Given the description of an element on the screen output the (x, y) to click on. 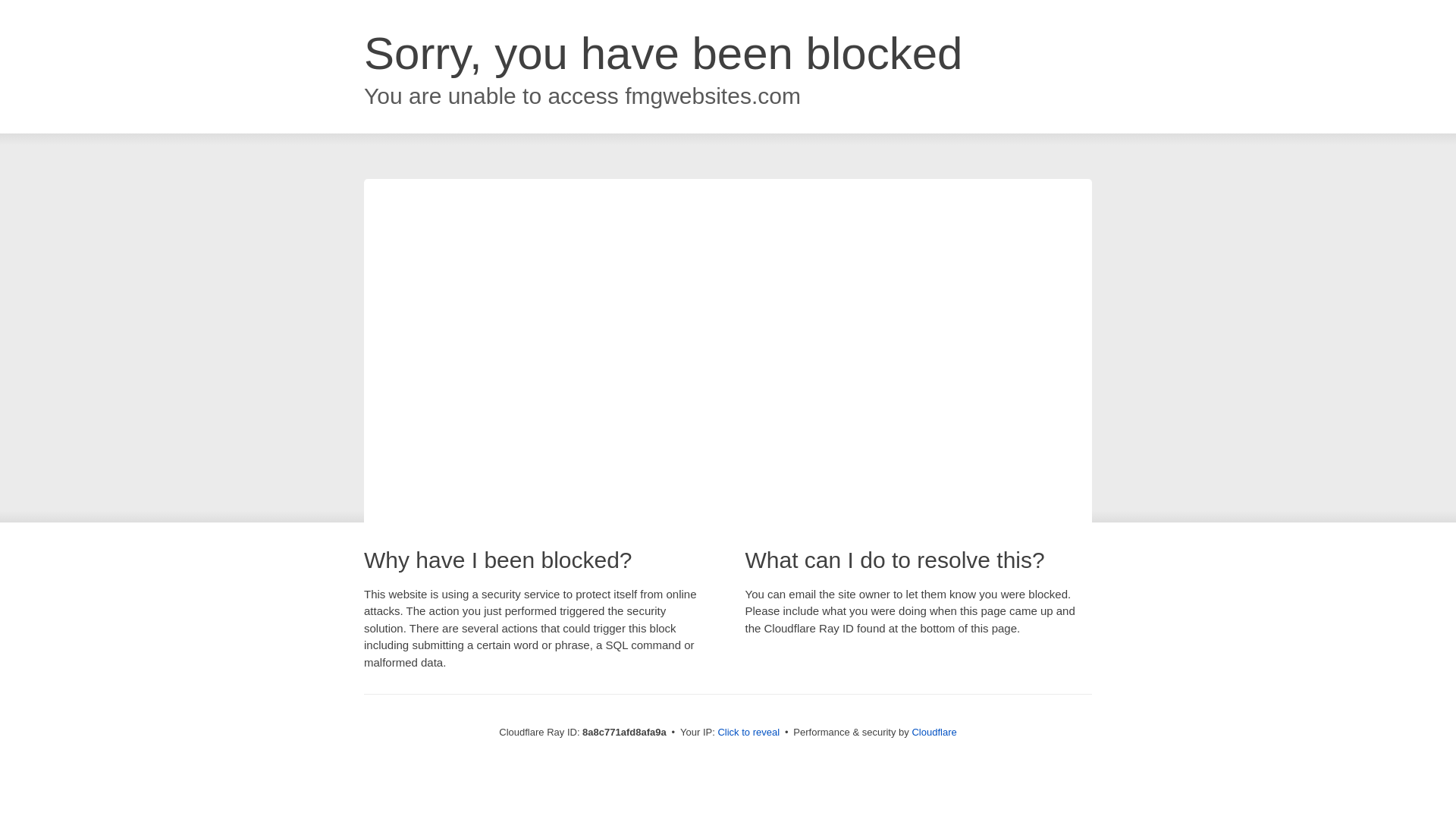
Click to reveal (747, 732)
Cloudflare (933, 731)
